Given the description of an element on the screen output the (x, y) to click on. 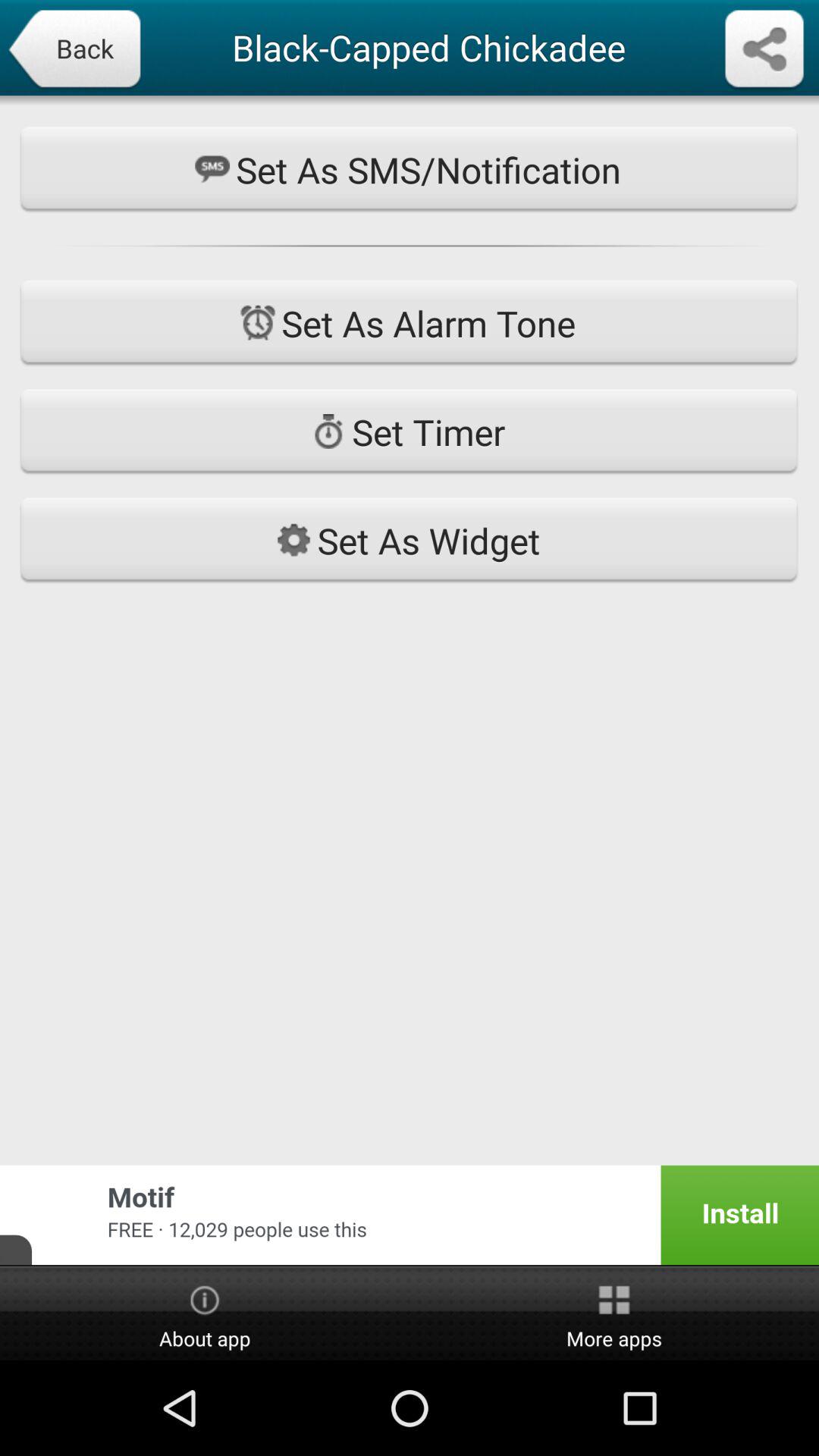
press the item next to the black-capped chickadee item (73, 50)
